Given the description of an element on the screen output the (x, y) to click on. 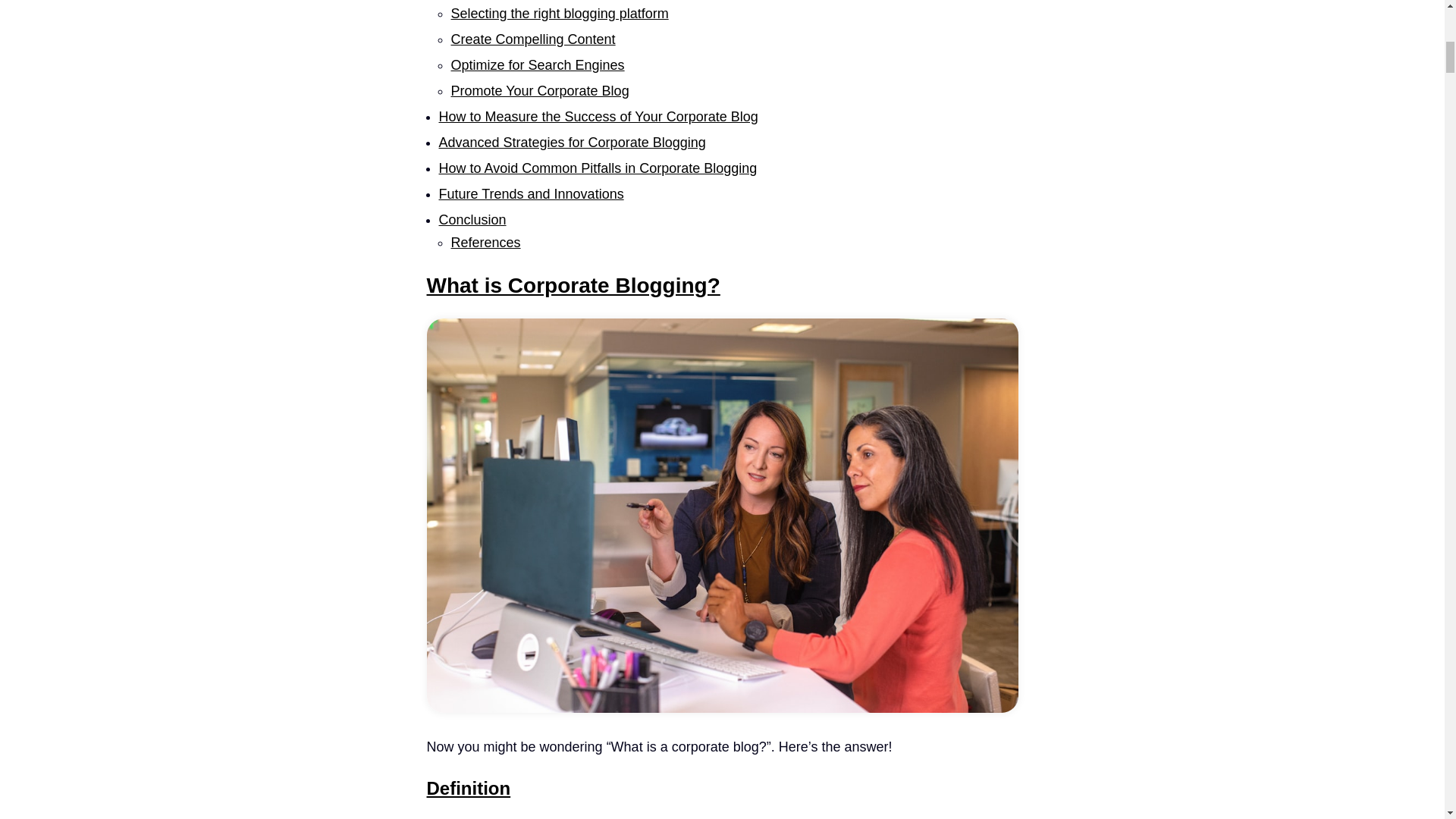
How to Avoid Common Pitfalls in Corporate Blogging (597, 168)
Future Trends and Innovations (530, 193)
Promote Your Corporate Blog (538, 90)
Selecting the right blogging platform (558, 13)
Create Compelling Content (531, 38)
References (484, 242)
Definition (468, 788)
Optimize for Search Engines (536, 64)
What is Corporate Blogging? (572, 285)
Advanced Strategies for Corporate Blogging (571, 142)
